Given the description of an element on the screen output the (x, y) to click on. 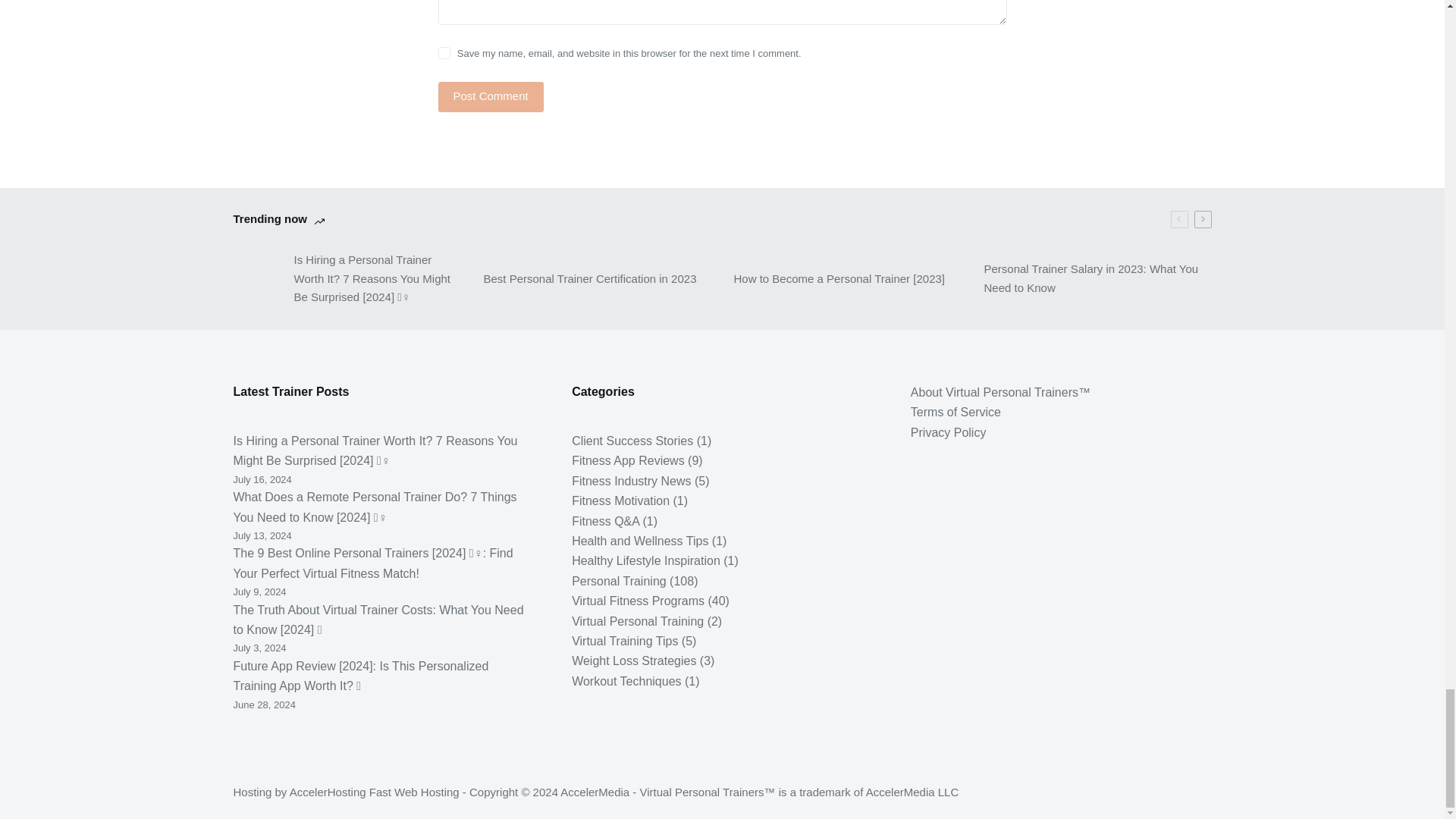
yes (443, 52)
